Given the description of an element on the screen output the (x, y) to click on. 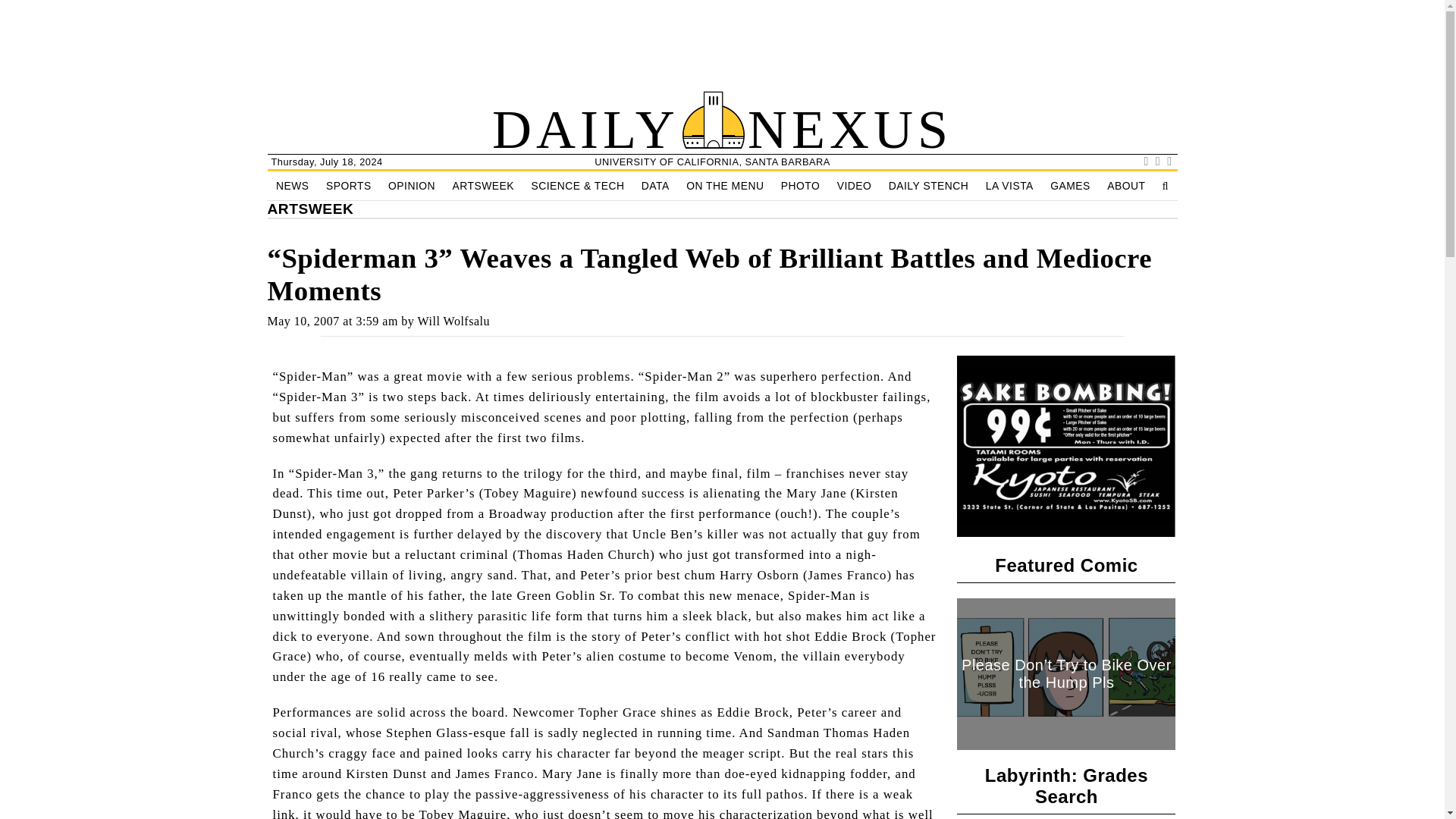
Posts by Will Wolfsalu (453, 320)
